Given the description of an element on the screen output the (x, y) to click on. 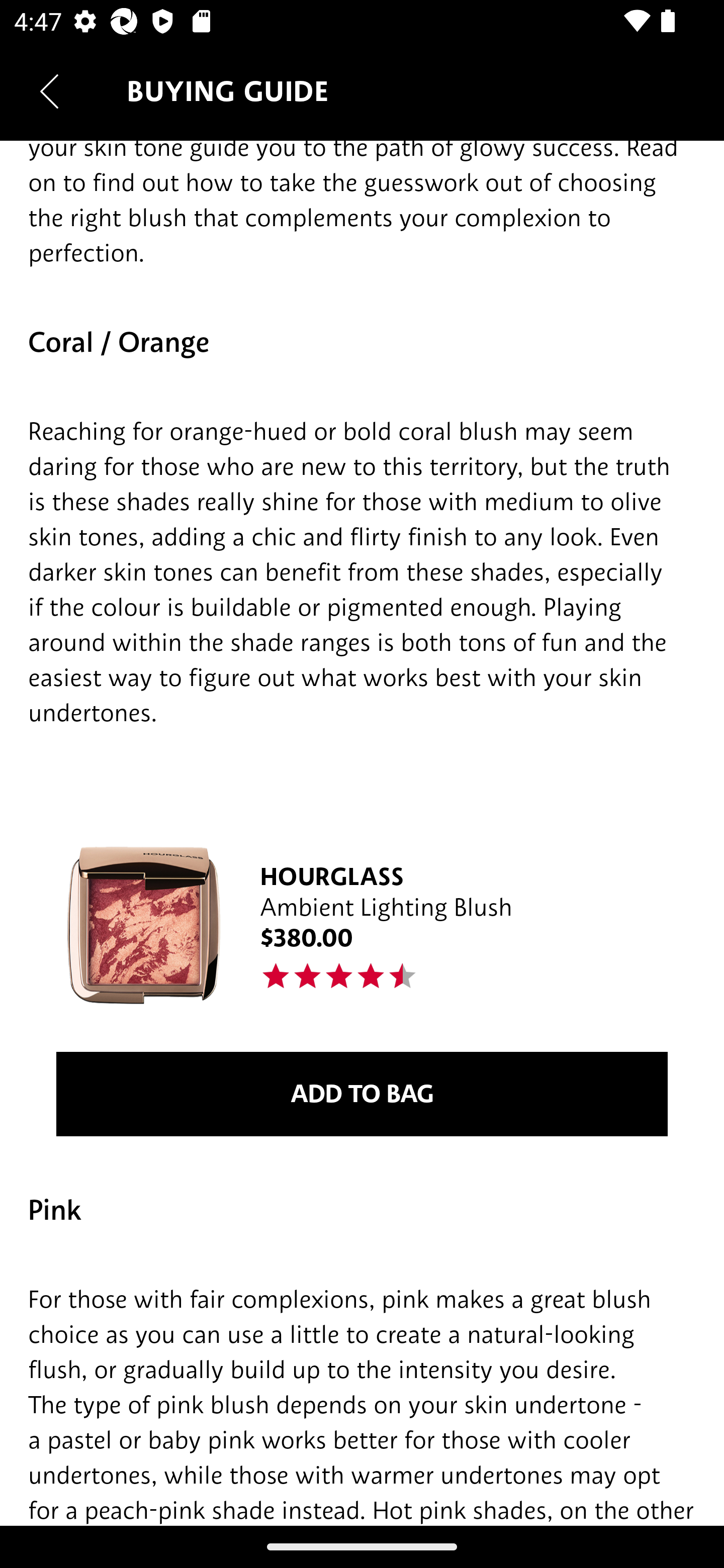
Navigate up (49, 91)
Coral / Orange (362, 341)
ADD TO BAG (361, 1094)
Pink (362, 1210)
